Given the description of an element on the screen output the (x, y) to click on. 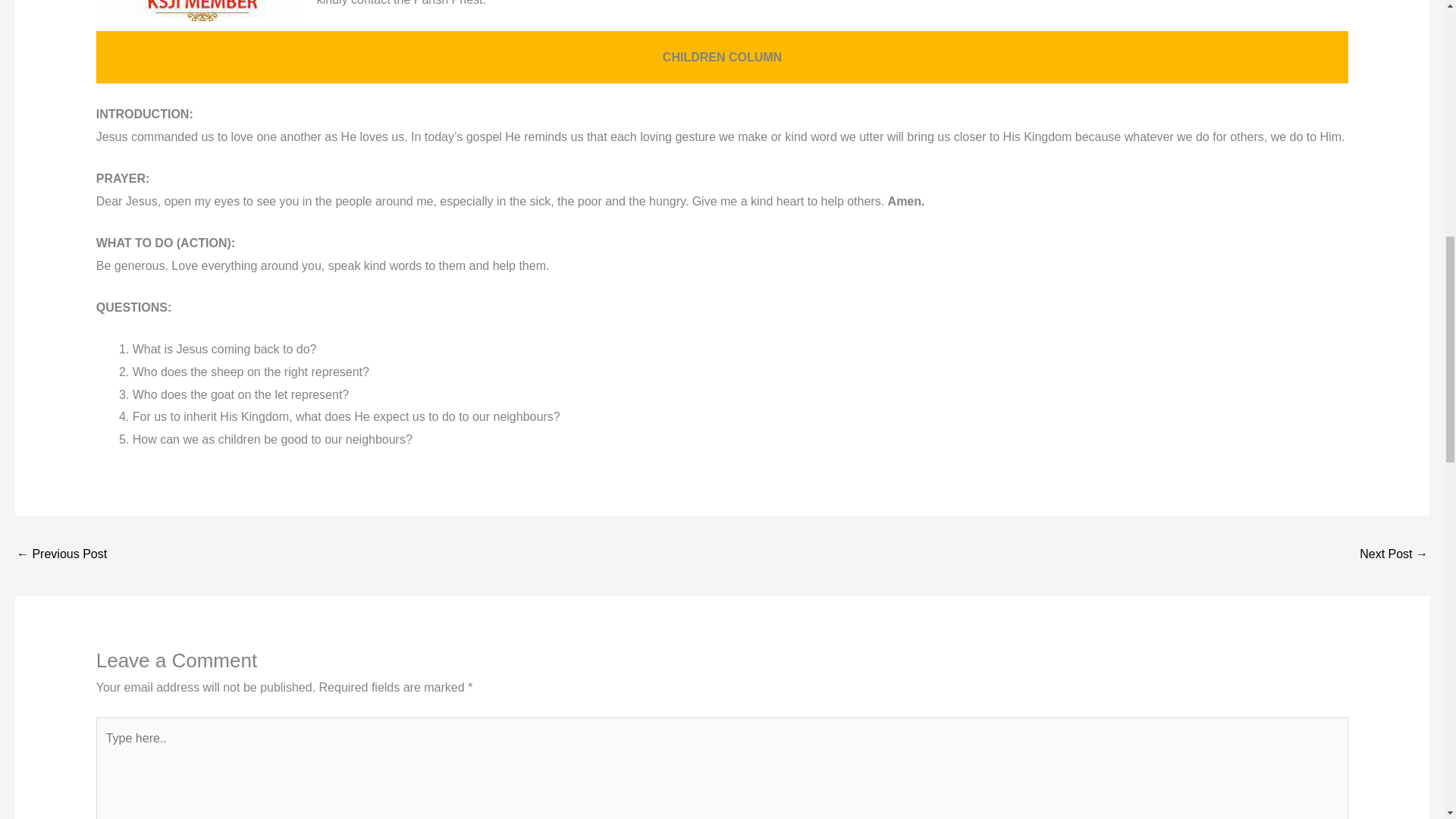
Parish Announcements - 26th November, 2023 (61, 555)
